Given the description of an element on the screen output the (x, y) to click on. 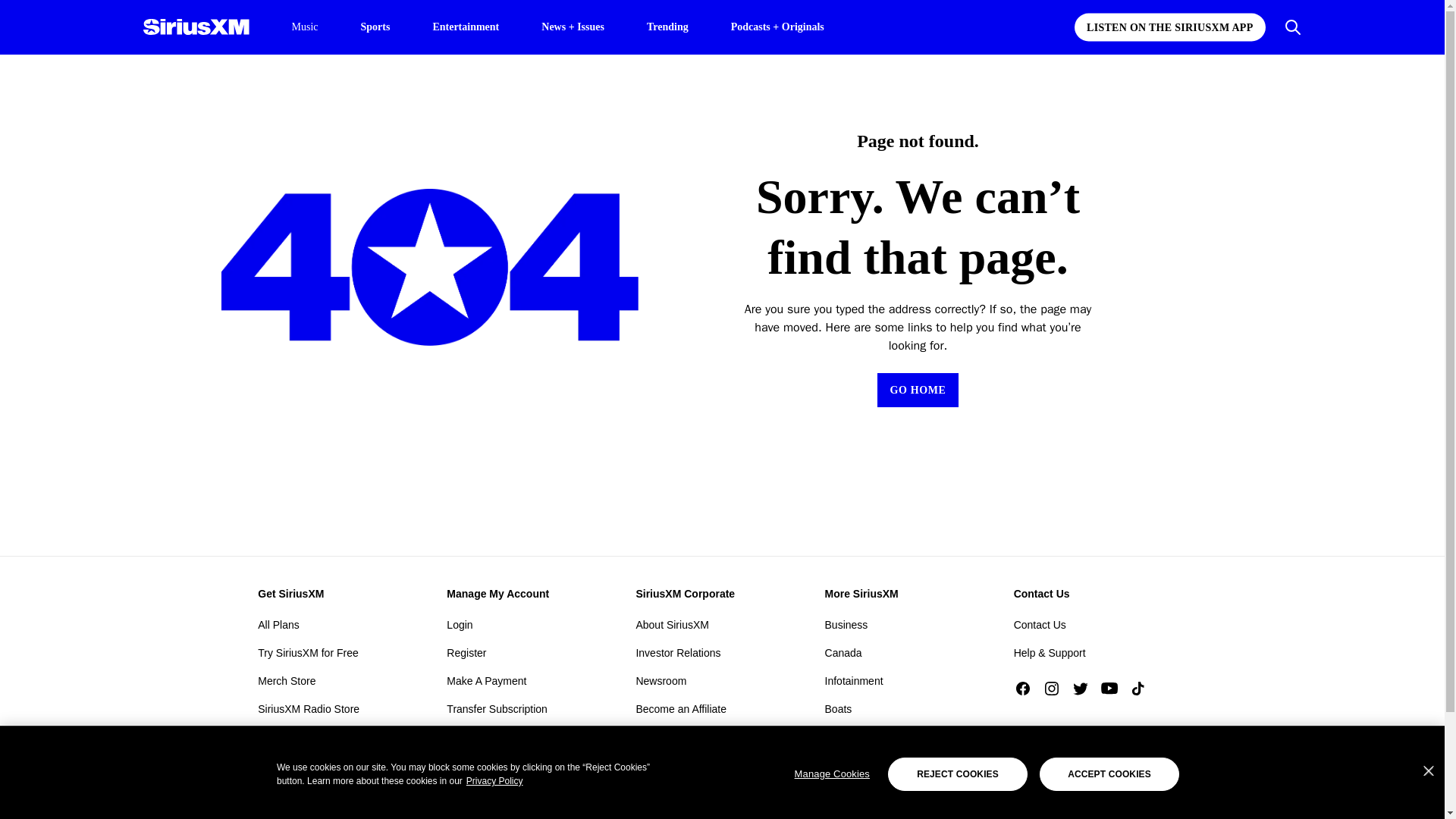
Military Discount (296, 736)
Merch Store (286, 680)
About SiriusXM (670, 624)
Newsroom (659, 680)
Login (458, 624)
LISTEN ON THE SIRIUSXM APP (1169, 27)
Register (466, 652)
GO HOME (917, 390)
Music (304, 26)
Sports (375, 26)
Student Plan (287, 764)
Careers (653, 793)
Try SiriusXM for Free (307, 652)
Transfer Subscription (496, 708)
Make A Payment (485, 680)
